Given the description of an element on the screen output the (x, y) to click on. 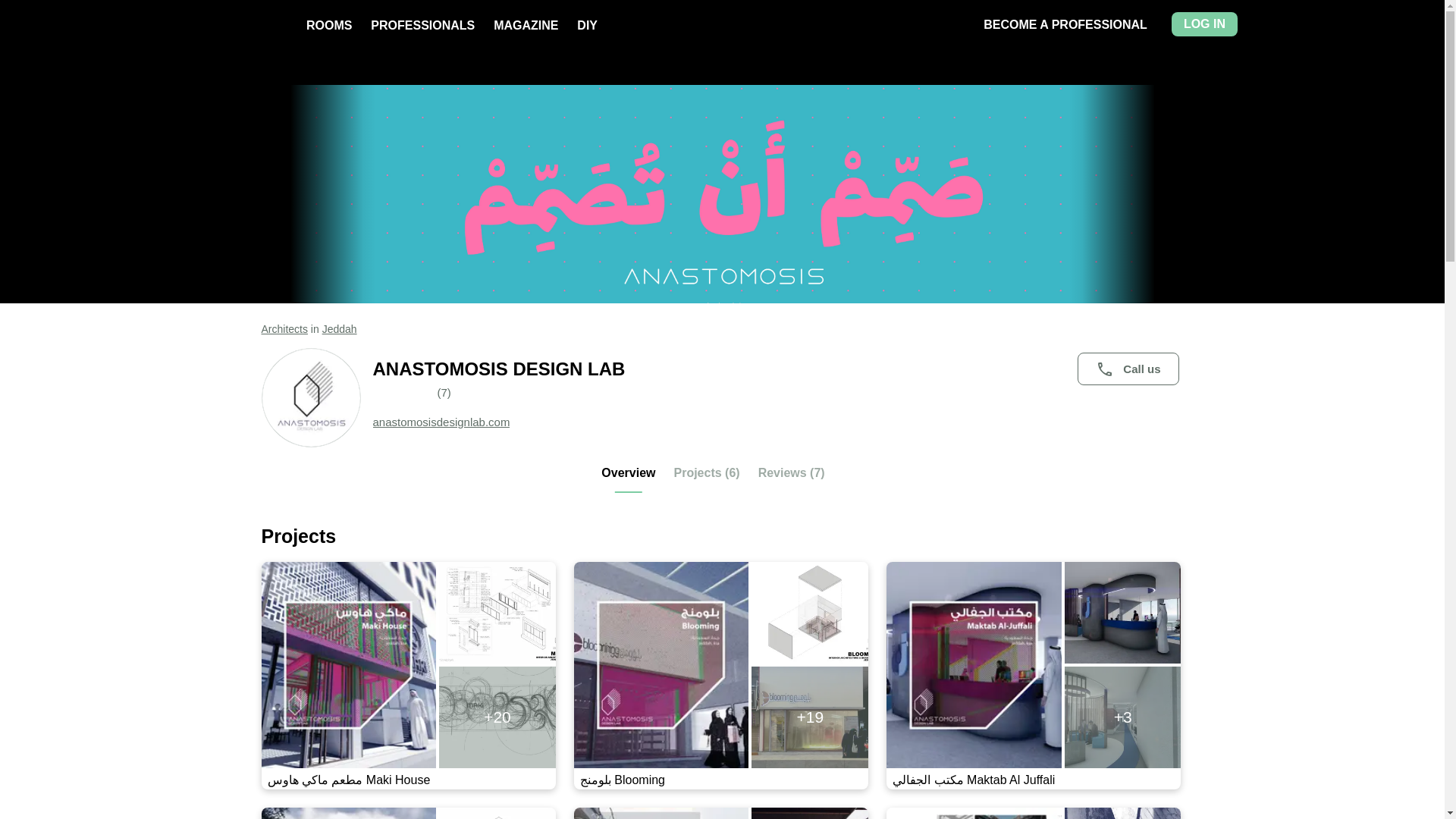
LOG IN (1204, 24)
Jeddah (338, 328)
ROOMS (328, 25)
PROFESSIONALS (422, 25)
BECOME A PROFESSIONAL (1064, 23)
MAGAZINE (525, 25)
DIY (586, 25)
ANASTOMOSIS DESIGN LAB (777, 368)
Call us (1127, 368)
Overview (628, 478)
